Given the description of an element on the screen output the (x, y) to click on. 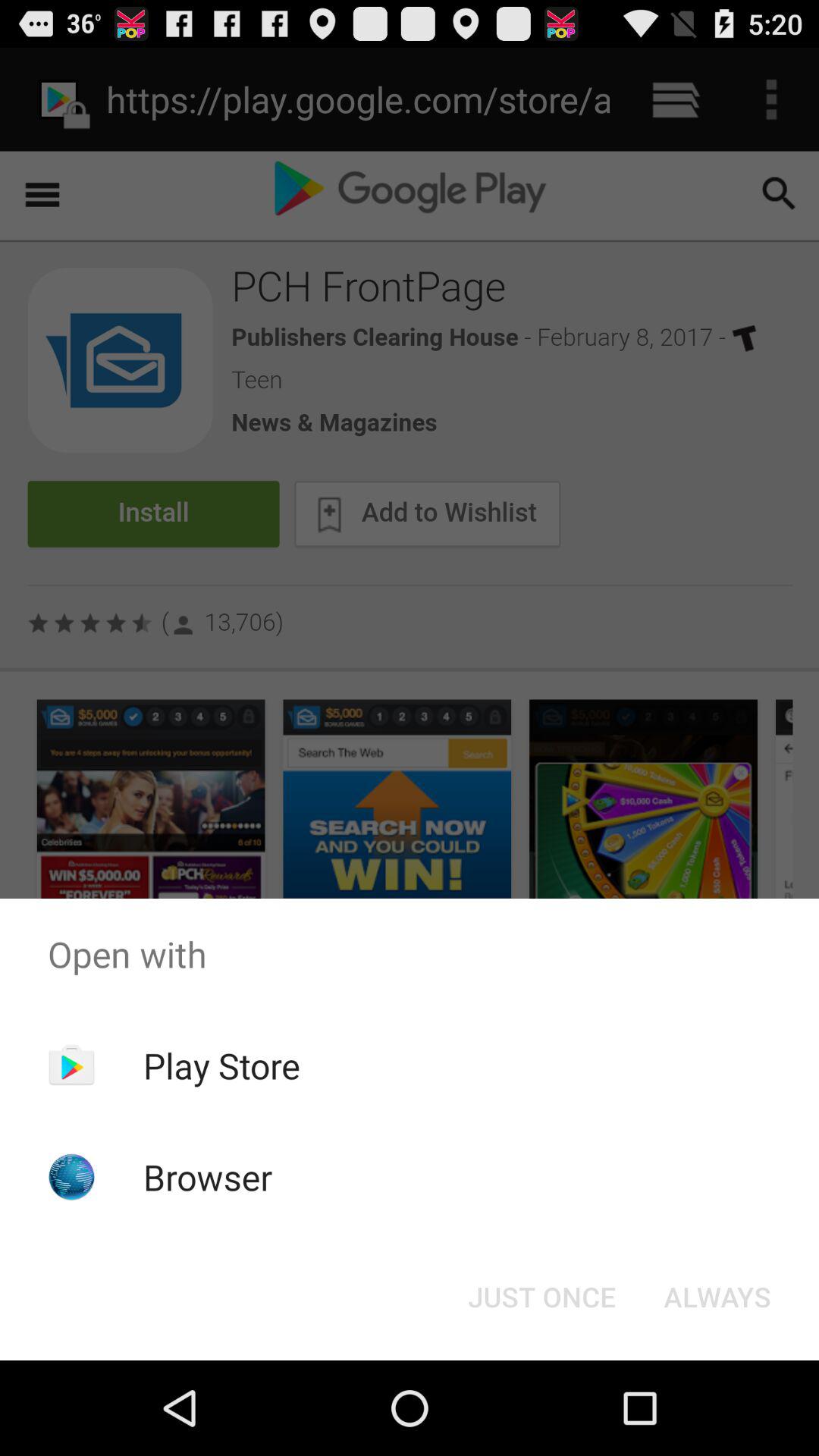
press the icon at the bottom right corner (717, 1296)
